Given the description of an element on the screen output the (x, y) to click on. 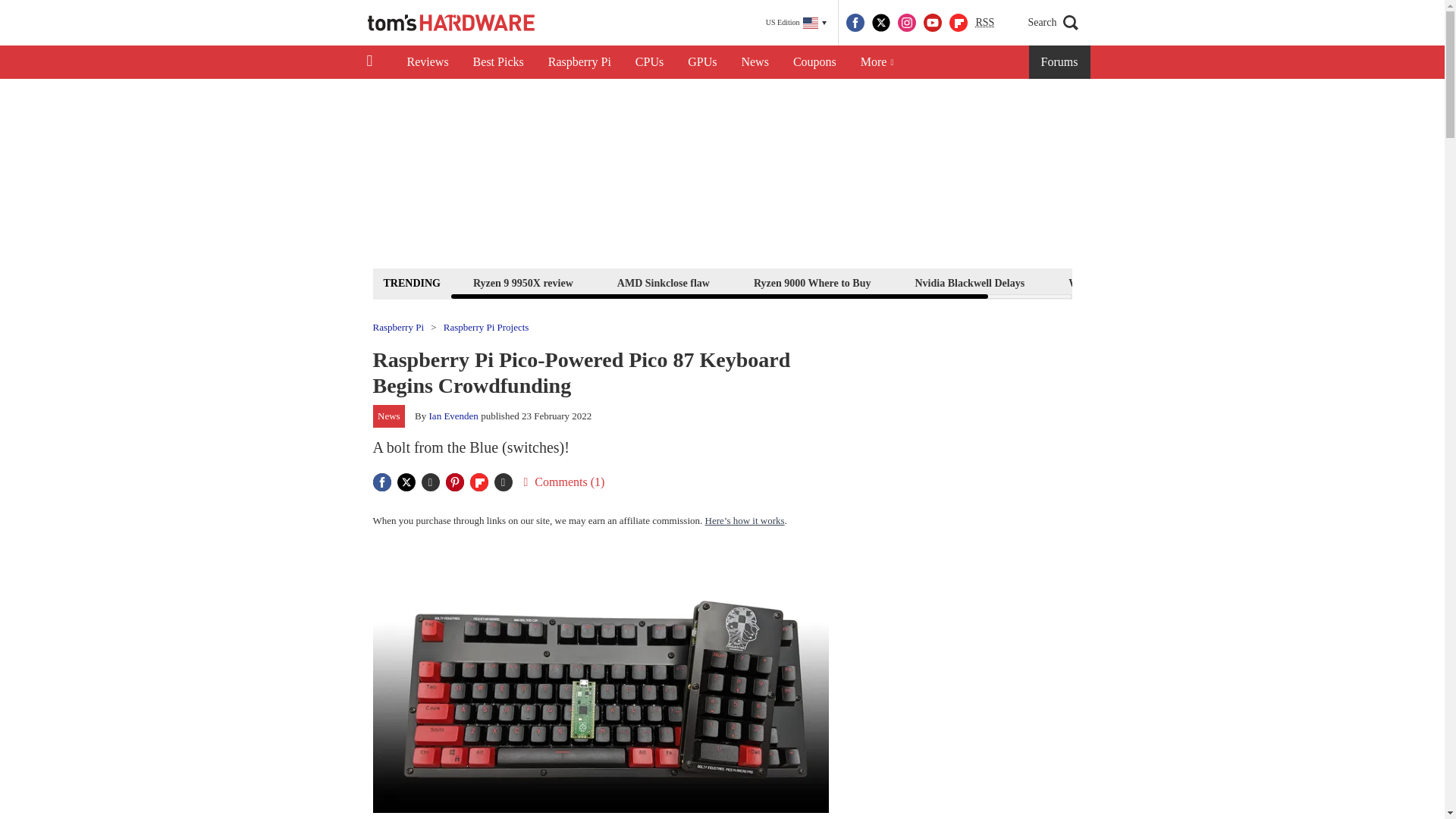
Reviews (427, 61)
CPUs (649, 61)
US Edition (796, 22)
Best Picks (498, 61)
RSS (984, 22)
Really Simple Syndication (984, 21)
Ryzen 9 9950X review (522, 282)
GPUs (702, 61)
Raspberry Pi (579, 61)
Coupons (814, 61)
